Given the description of an element on the screen output the (x, y) to click on. 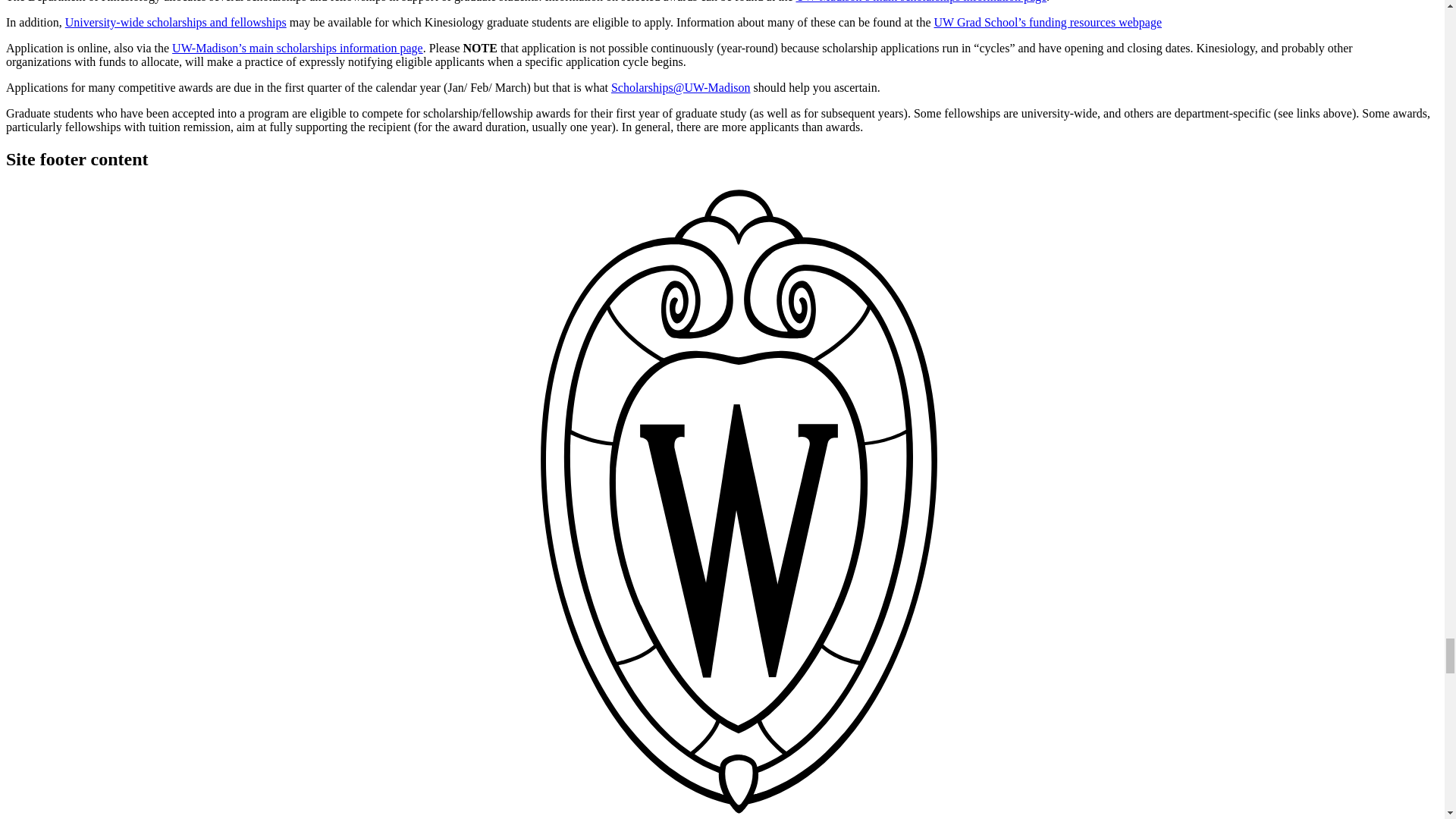
University-wide scholarships and fellowships (175, 21)
